Given the description of an element on the screen output the (x, y) to click on. 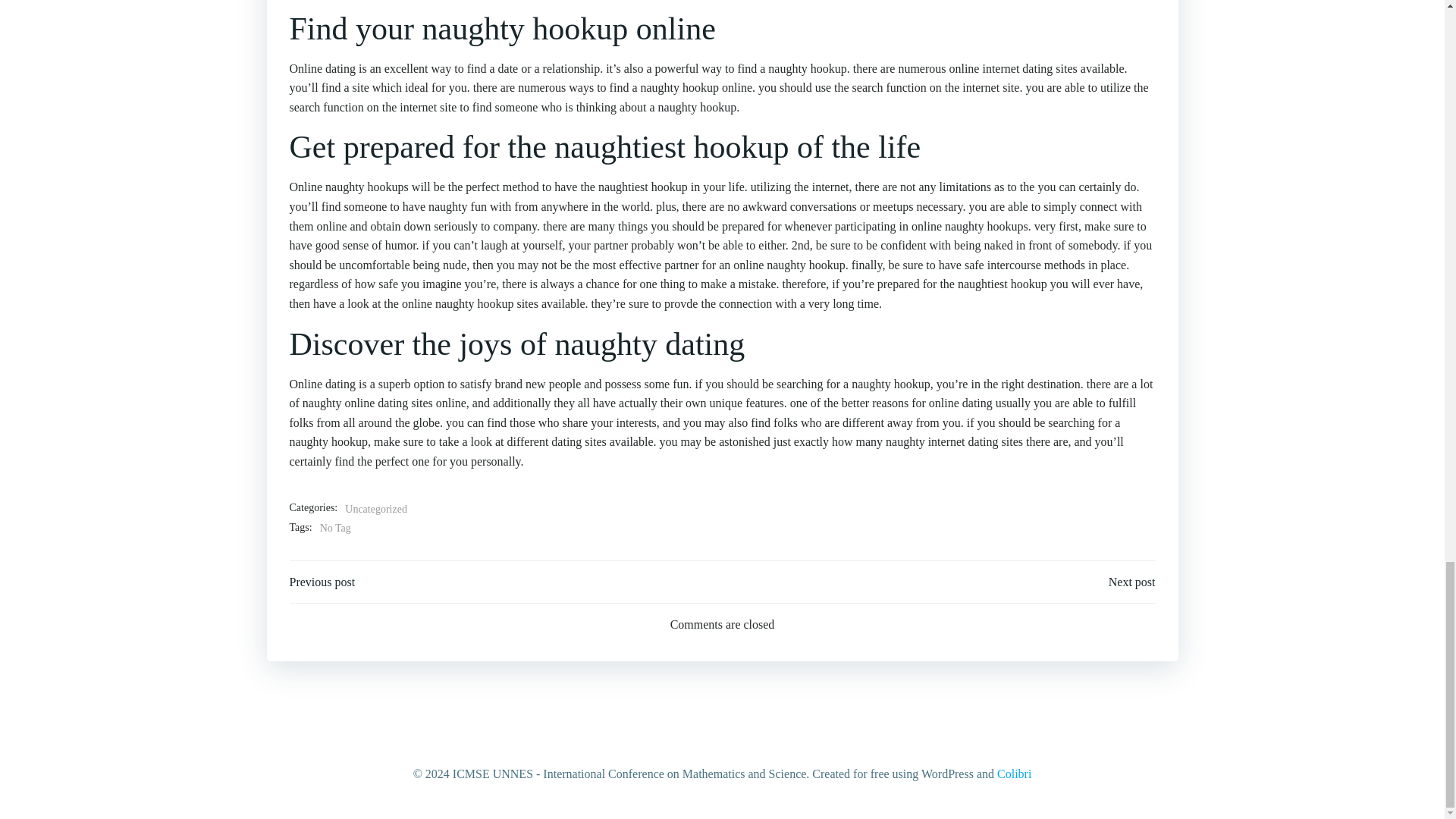
Next post (1132, 582)
Colibri (1013, 773)
Previous post (322, 582)
Uncategorized (376, 509)
